Given the description of an element on the screen output the (x, y) to click on. 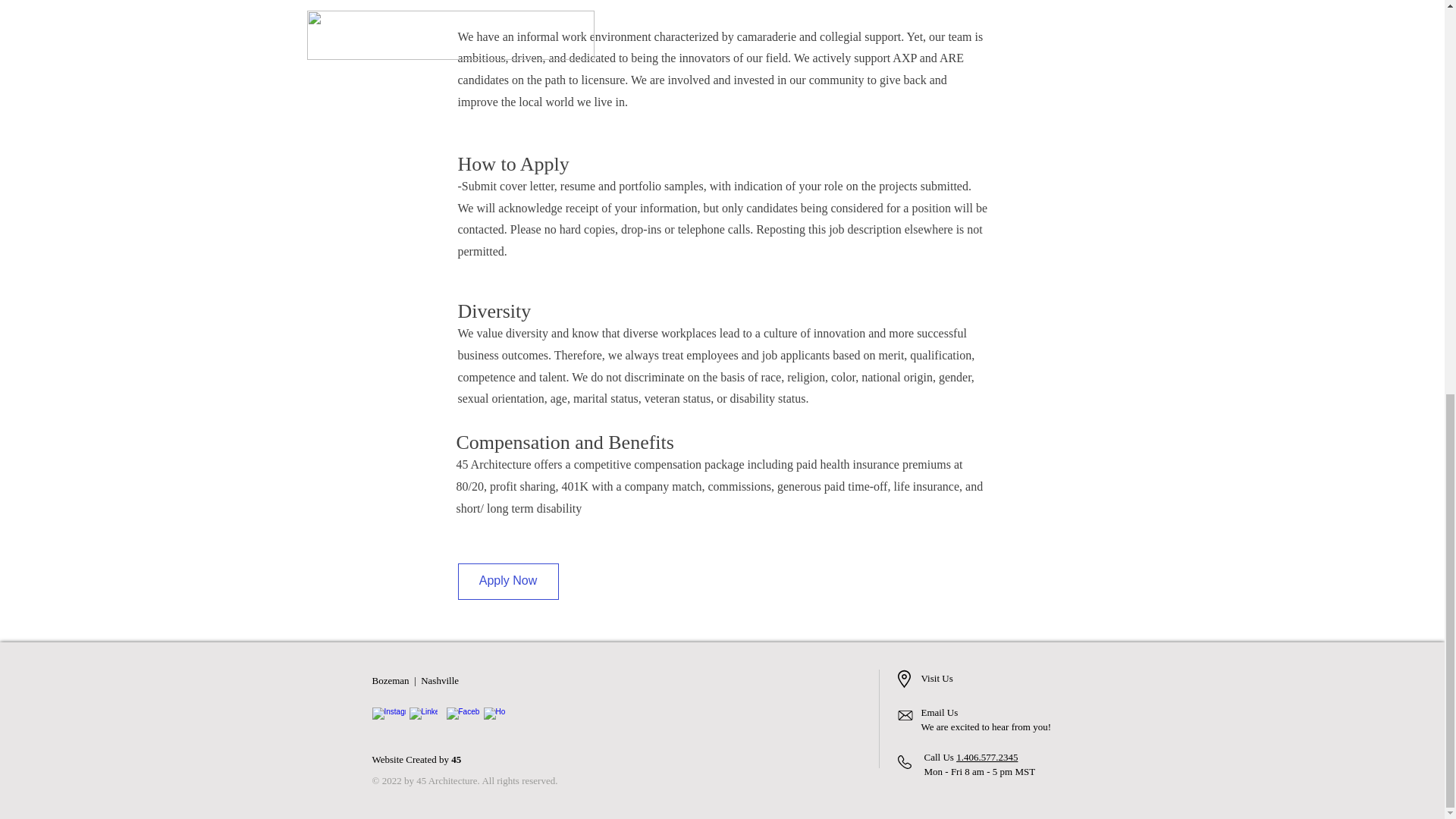
Visit Us (936, 677)
Apply Now (508, 581)
1.406.577.2345 (986, 756)
Website Created by 45 (416, 758)
Email Us (939, 712)
